Given the description of an element on the screen output the (x, y) to click on. 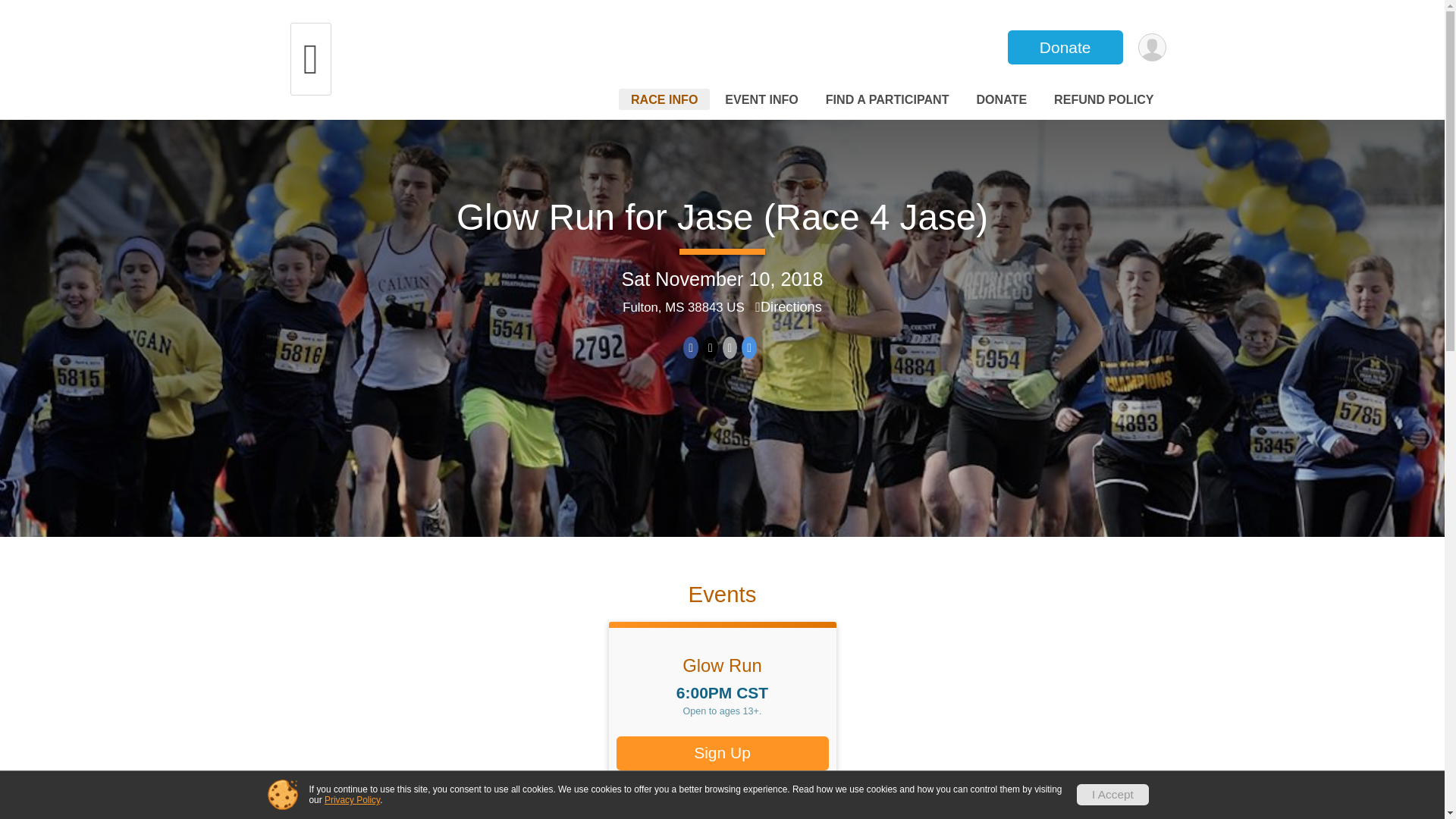
RACE INFO (664, 98)
REFUND POLICY (1103, 98)
FIND A PARTICIPANT (887, 98)
Sign Up (721, 753)
Directions (788, 306)
DONATE (1000, 98)
Glow Run (721, 665)
Donate (1064, 47)
EVENT INFO (761, 98)
